Given the description of an element on the screen output the (x, y) to click on. 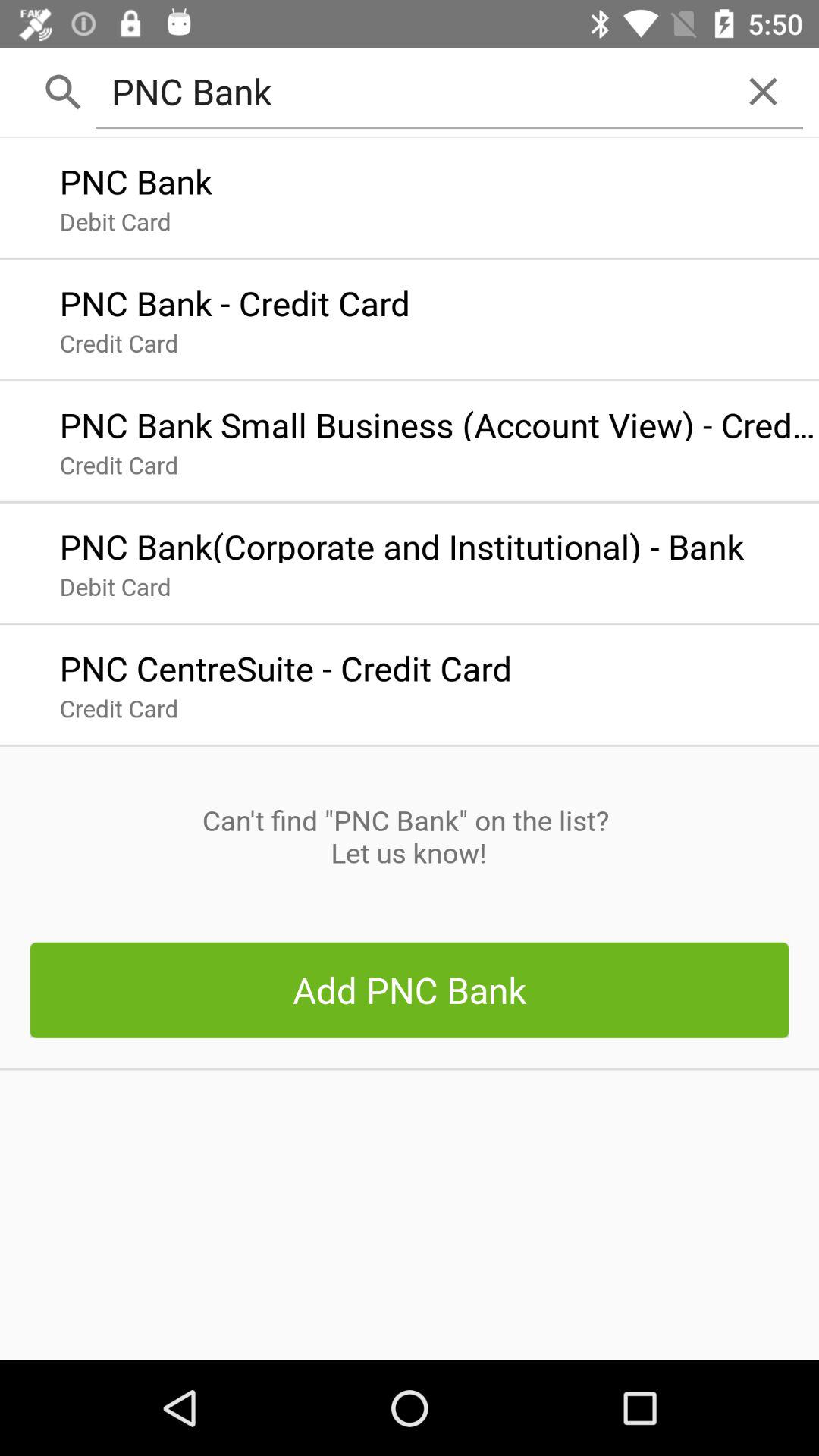
open the can t find item (408, 836)
